Given the description of an element on the screen output the (x, y) to click on. 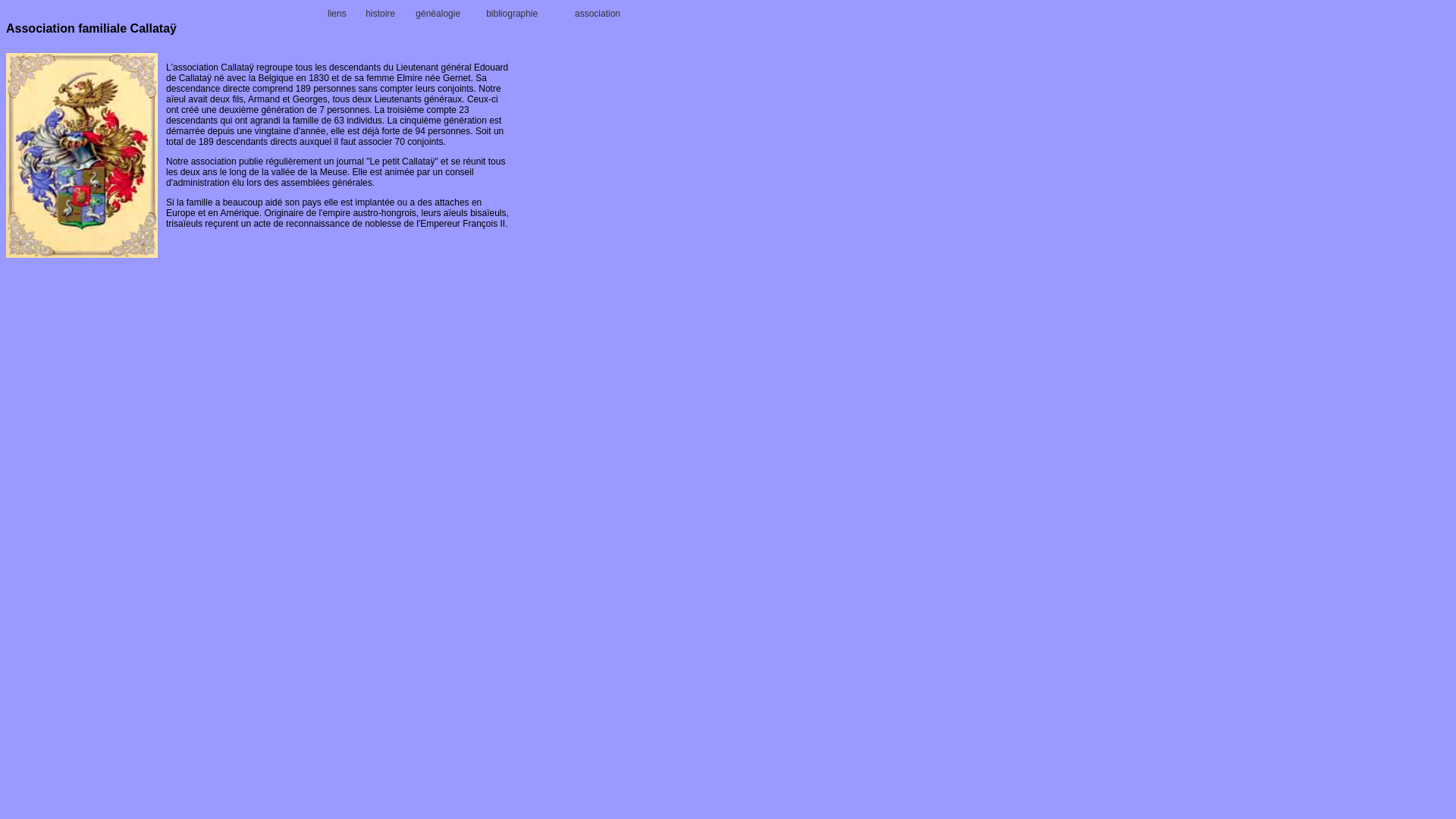
liens Element type: text (336, 13)
histoire Element type: text (380, 13)
bibliographie Element type: text (511, 13)
association Element type: text (597, 13)
